Given the description of an element on the screen output the (x, y) to click on. 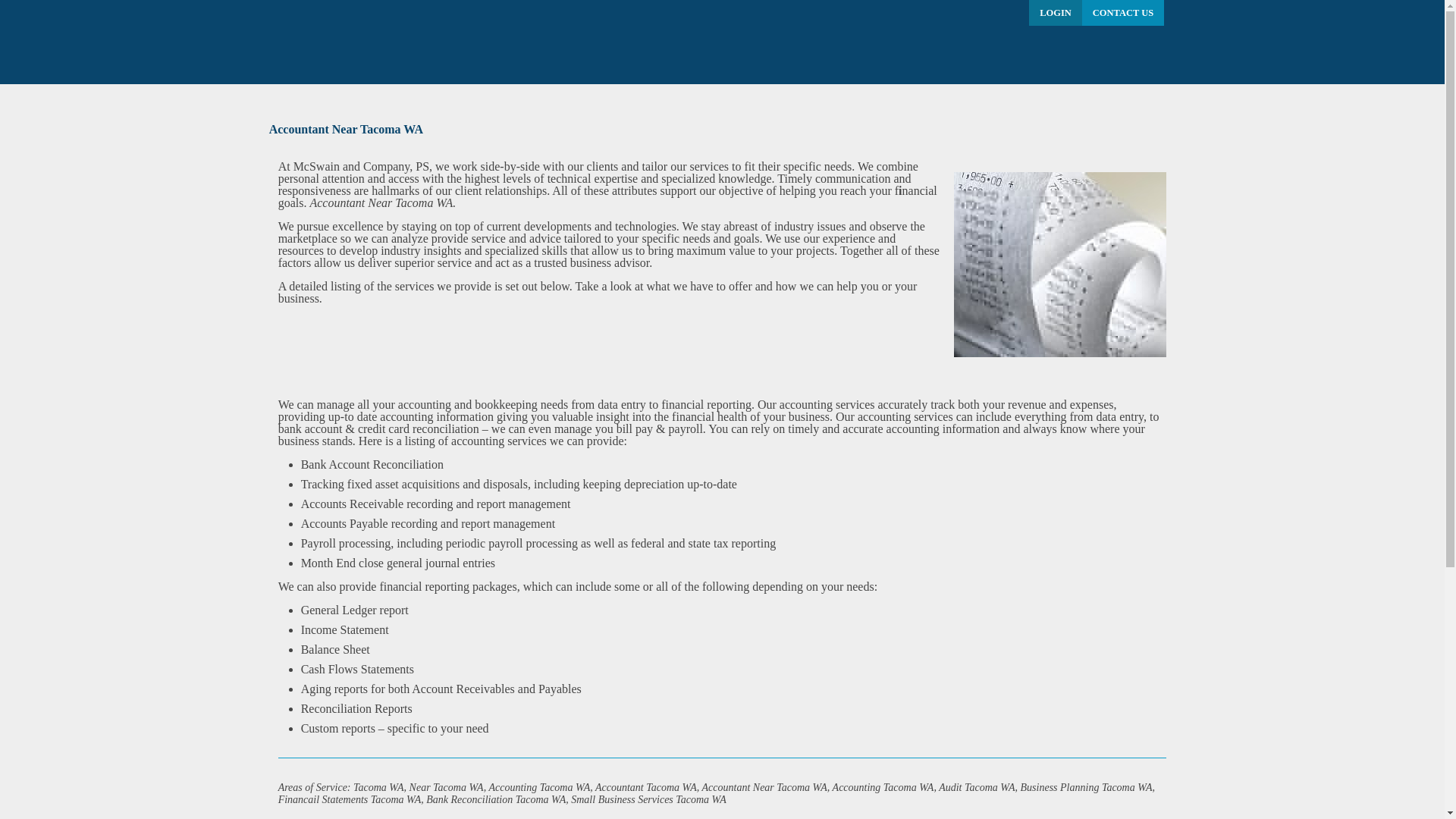
LOGIN (1055, 12)
CONTACT US (1123, 12)
Accountant Near Tacoma WA (1059, 264)
